Given the description of an element on the screen output the (x, y) to click on. 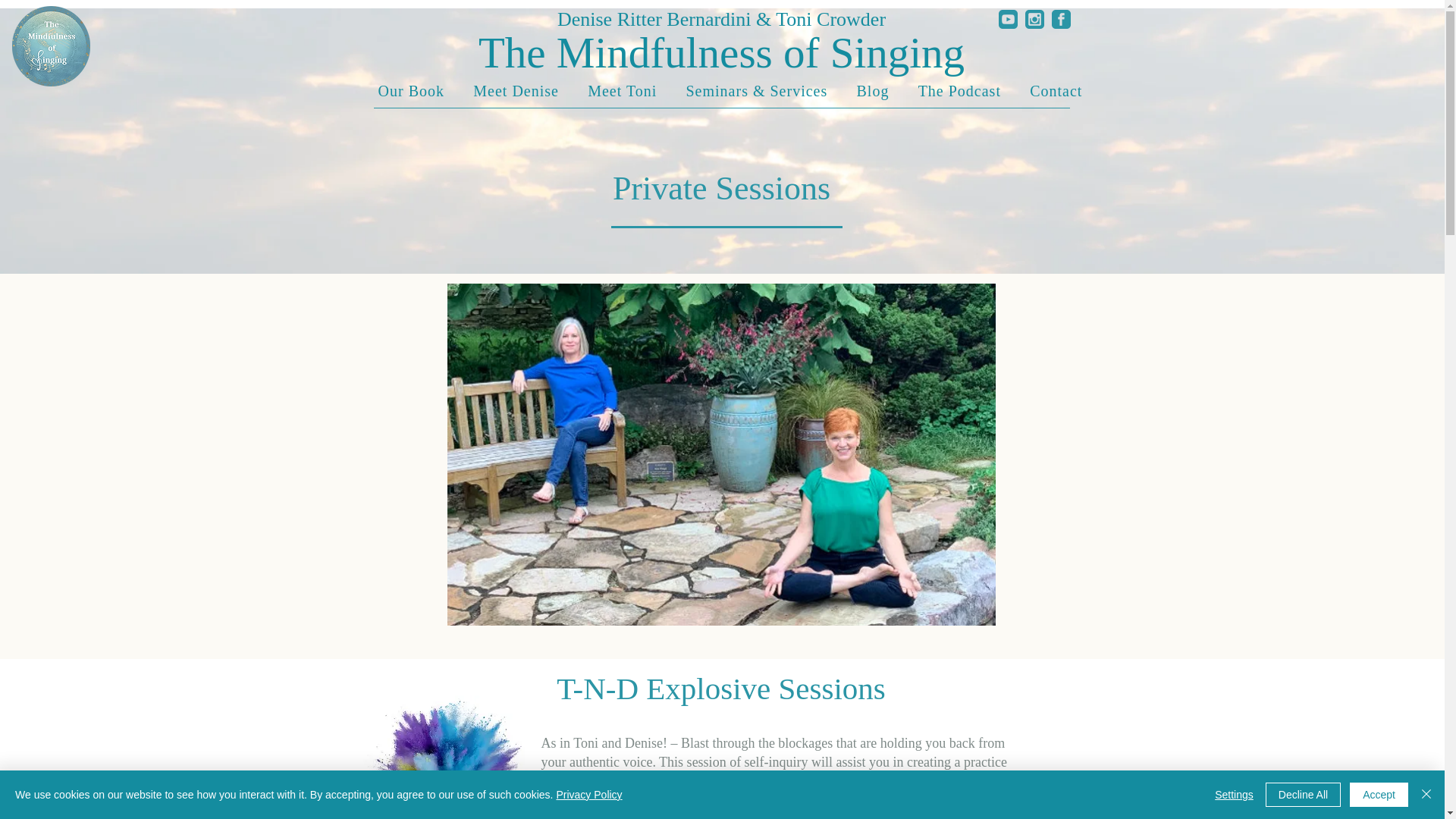
Meet Toni (622, 91)
Blog (871, 91)
Accept (1378, 794)
Our Book (410, 91)
Contact (1055, 91)
The Podcast (960, 91)
Privacy Policy (588, 794)
Decline All (1302, 794)
Meet Denise (515, 91)
